Given the description of an element on the screen output the (x, y) to click on. 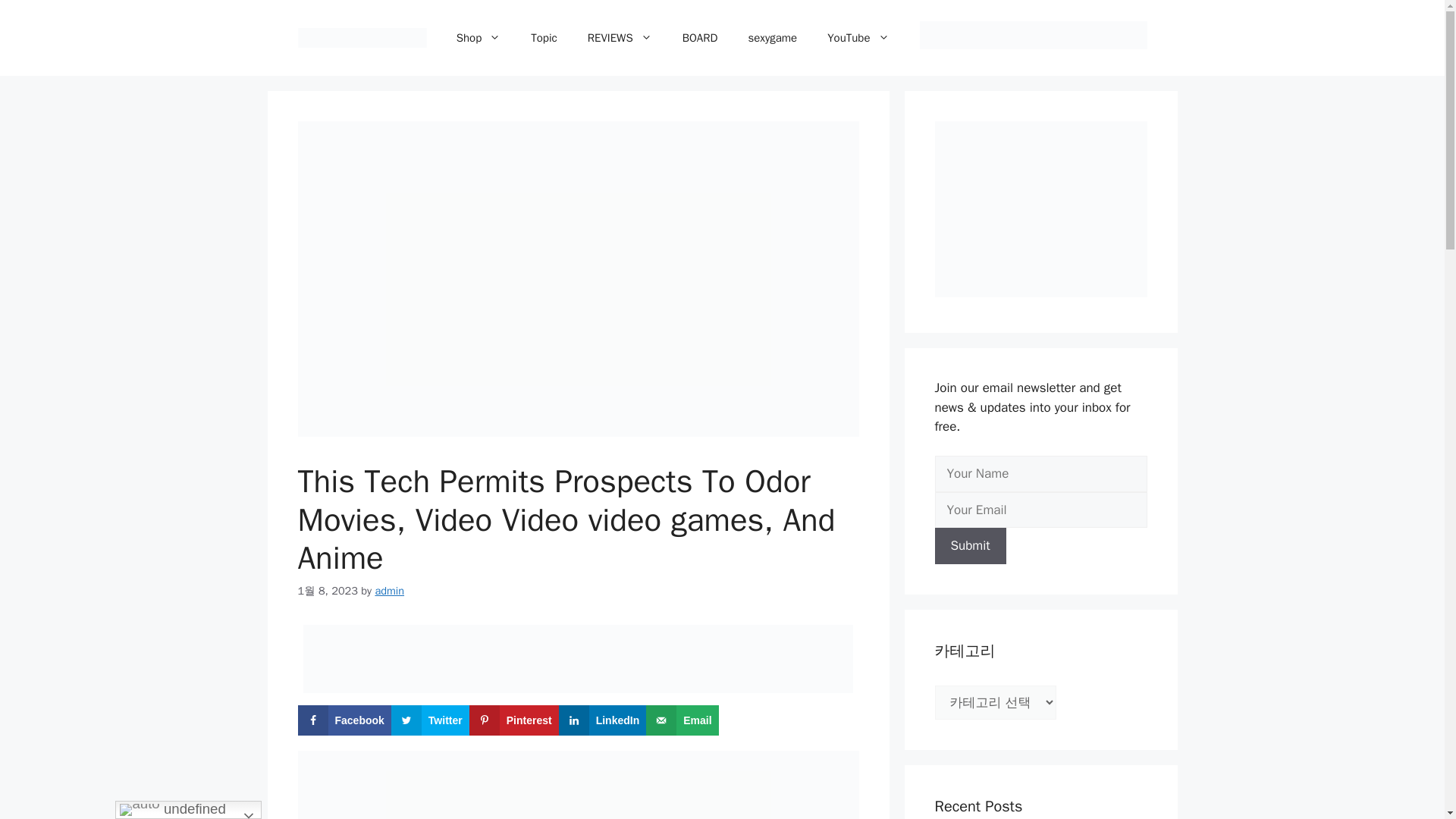
View all posts by admin (389, 590)
REVIEWS (619, 37)
Send over email (681, 720)
Topic (543, 37)
Email (681, 720)
Share on Facebook (343, 720)
sexygame (772, 37)
Share on LinkedIn (602, 720)
LinkedIn (602, 720)
Shop (478, 37)
Save to Pinterest (513, 720)
Share on Twitter (429, 720)
Pinterest (513, 720)
Facebook (343, 720)
Submit (970, 545)
